Given the description of an element on the screen output the (x, y) to click on. 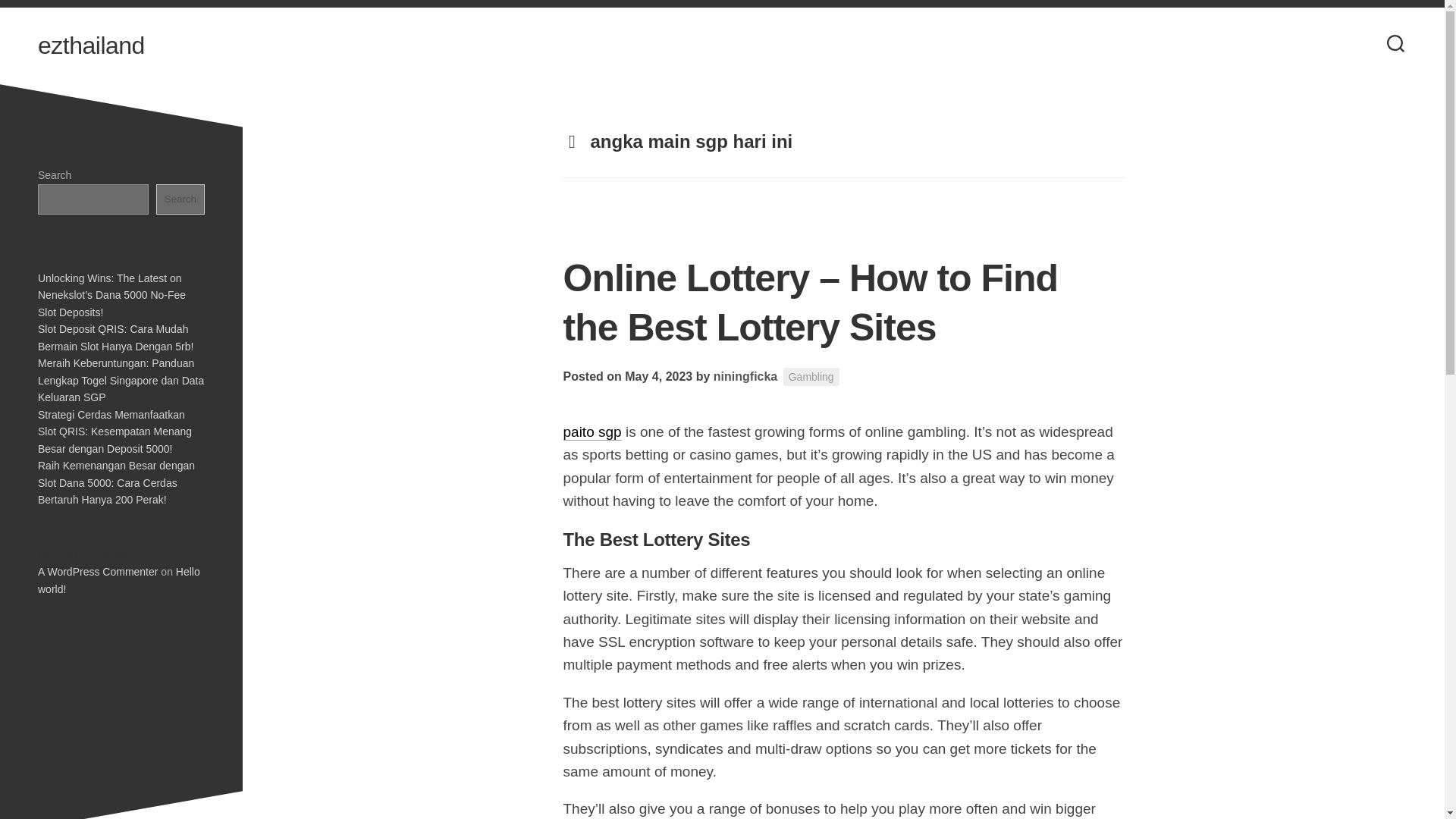
Slot Deposit QRIS: Cara Mudah Bermain Slot Hanya Dengan 5rb! (115, 337)
Search (180, 198)
Gambling (811, 376)
paito sgp (591, 431)
Hello world! (118, 580)
Posts by niningficka (745, 376)
niningficka (745, 376)
